Given the description of an element on the screen output the (x, y) to click on. 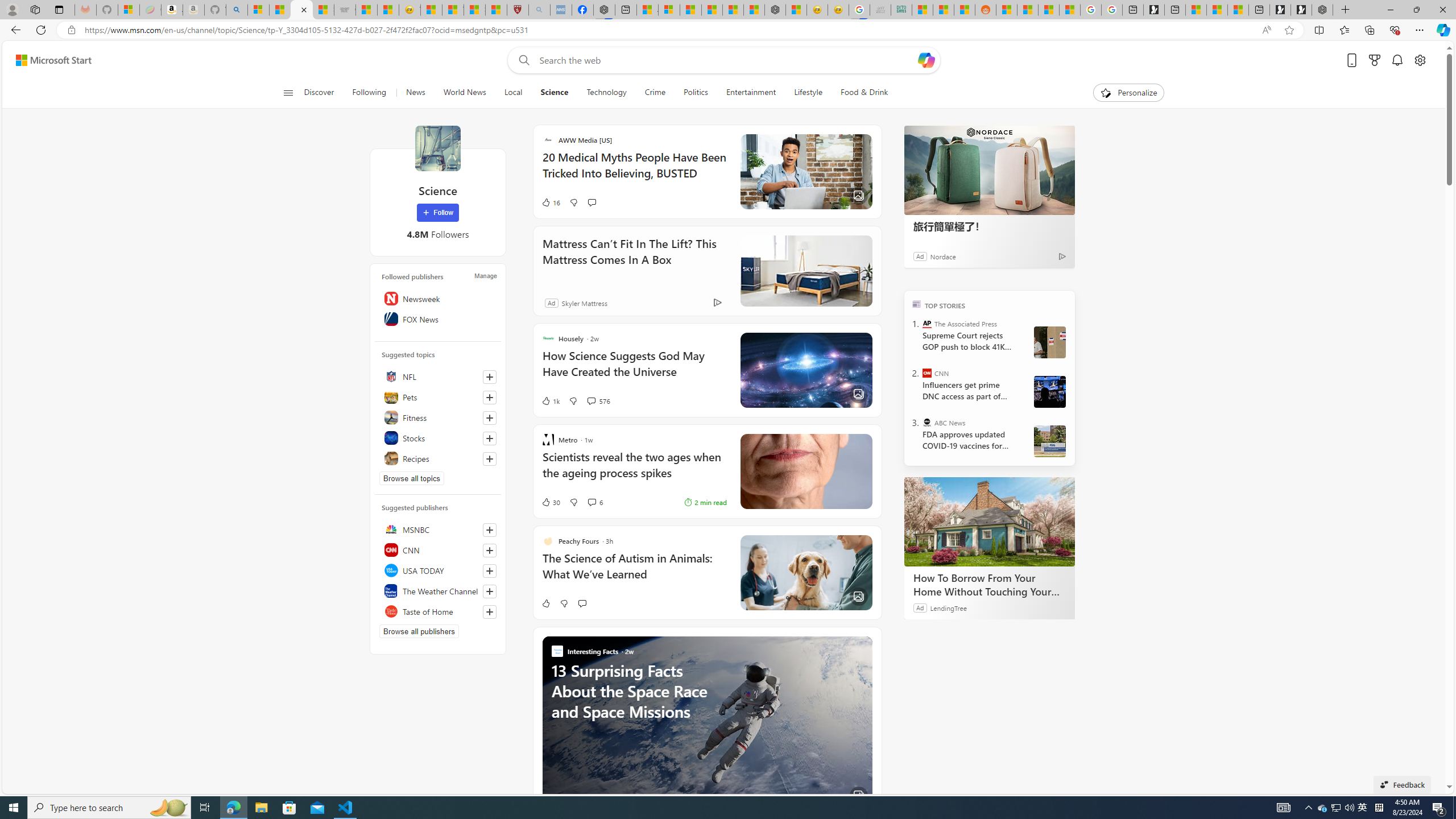
Fitness (437, 417)
Stocks (437, 437)
30 Like (549, 502)
View comments 576 Comment (598, 400)
Follow this source (489, 611)
